Given the description of an element on the screen output the (x, y) to click on. 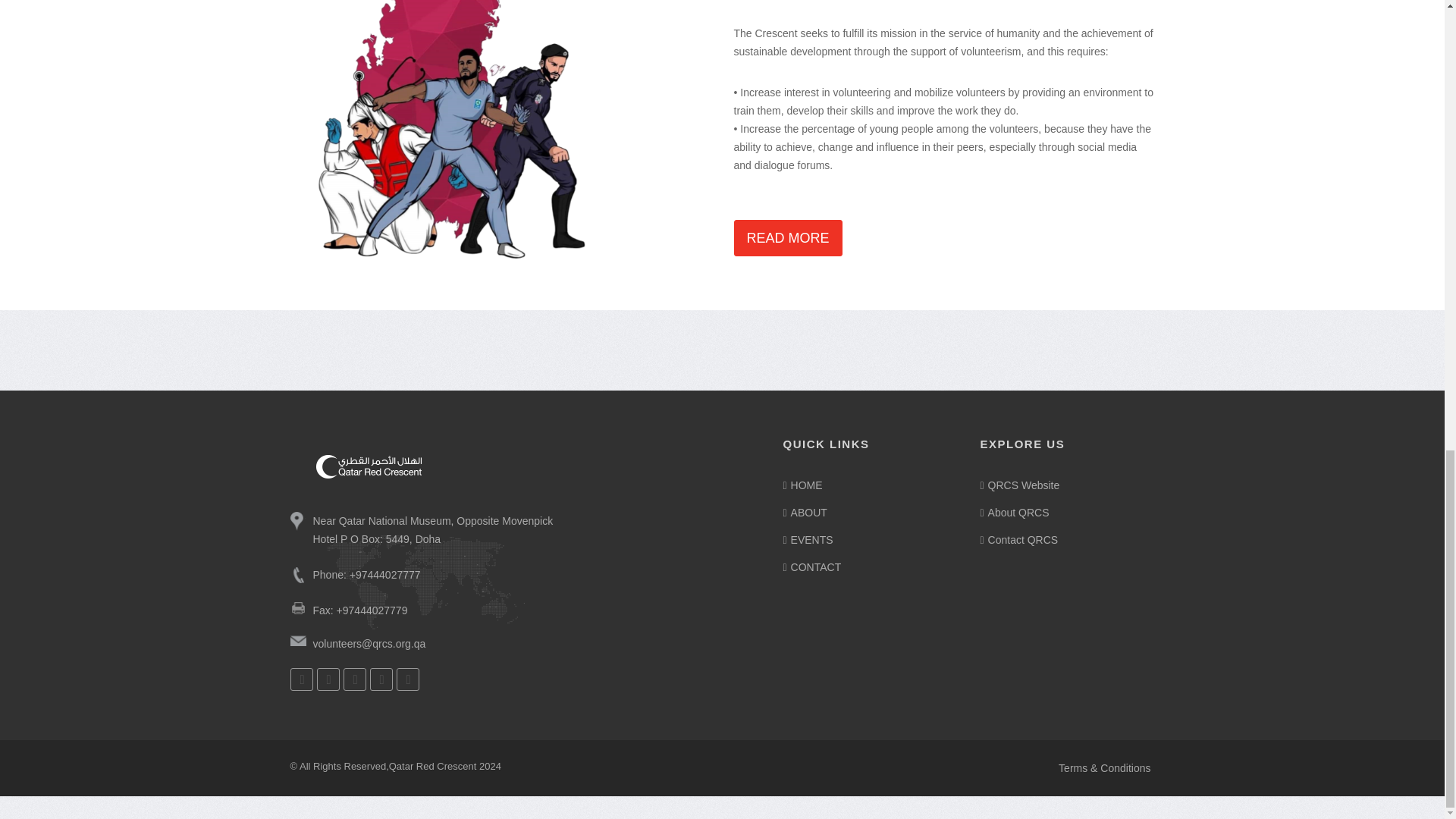
HOME (869, 484)
QRCS Website (1066, 484)
ABOUT (869, 512)
About QRCS (1066, 512)
EVENTS (869, 539)
CONTACT (869, 566)
Contact QRCS (1066, 539)
READ MORE (788, 238)
